Given the description of an element on the screen output the (x, y) to click on. 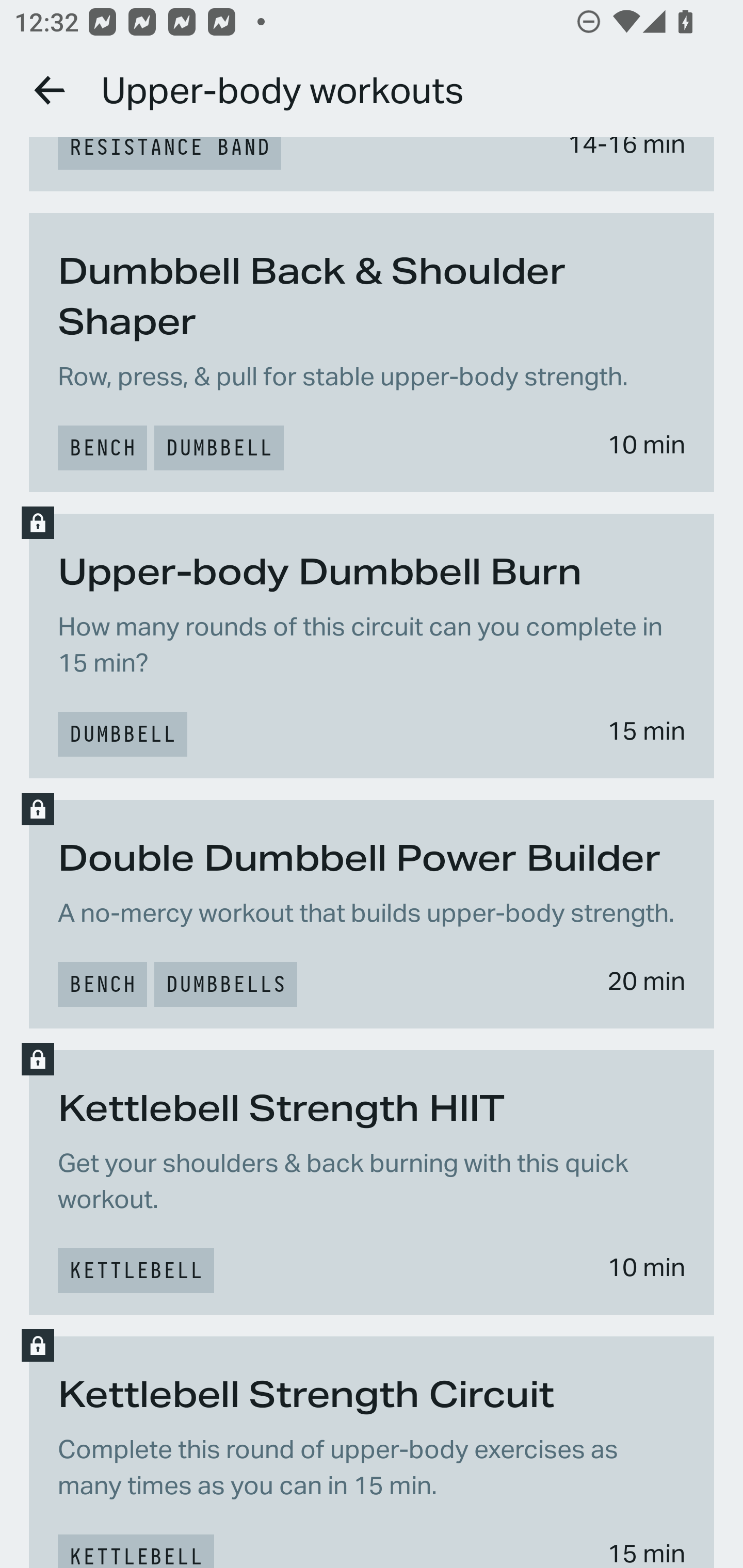
Go back (50, 90)
